Given the description of an element on the screen output the (x, y) to click on. 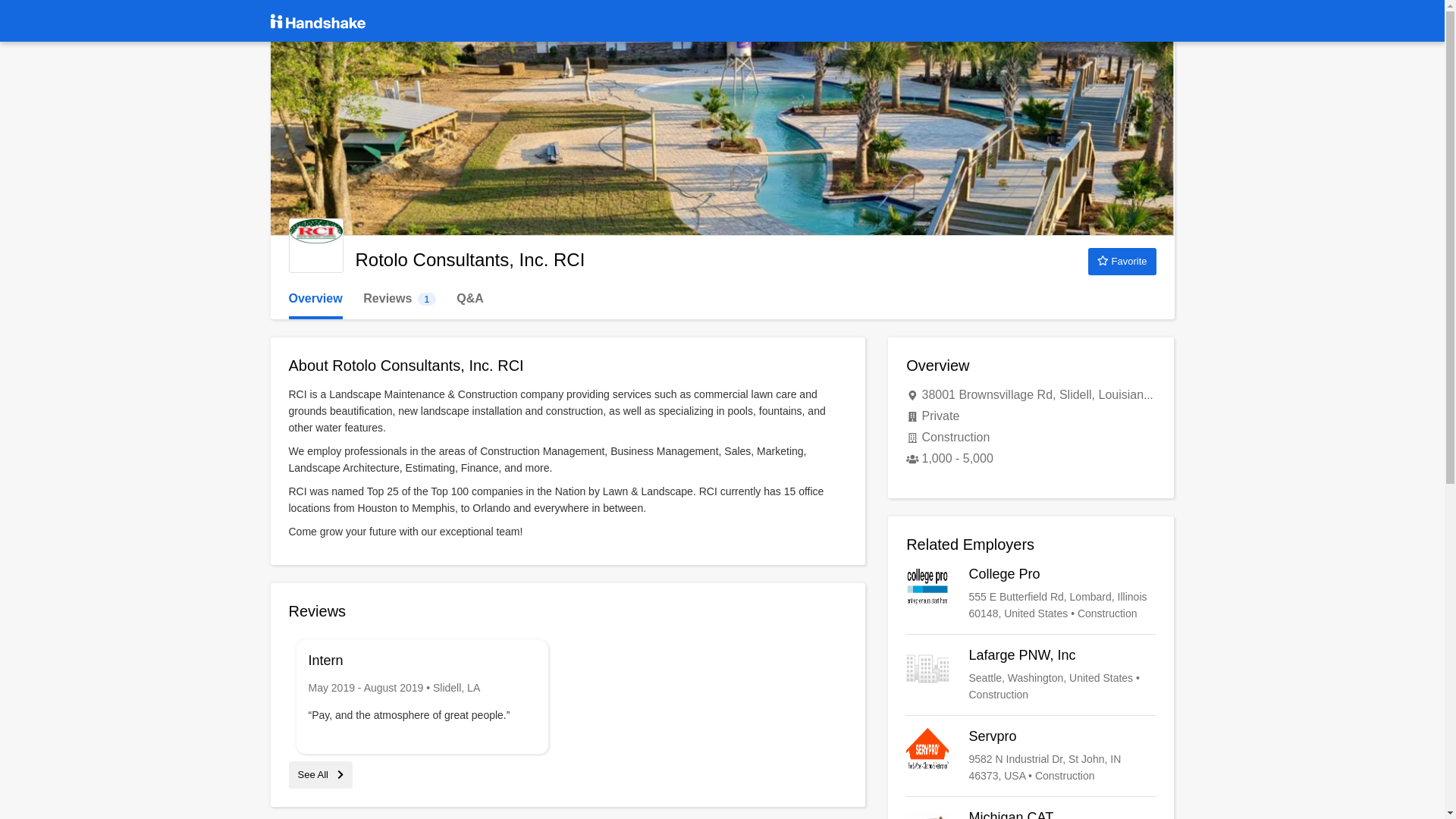
Favorite (398, 298)
Rotolo Consultants, Inc. RCI (1121, 261)
See All (315, 245)
Servpro (320, 774)
Overview (1030, 755)
Michigan CAT (315, 298)
Lafarge PNW, Inc (1030, 814)
College Pro (1030, 674)
